Given the description of an element on the screen output the (x, y) to click on. 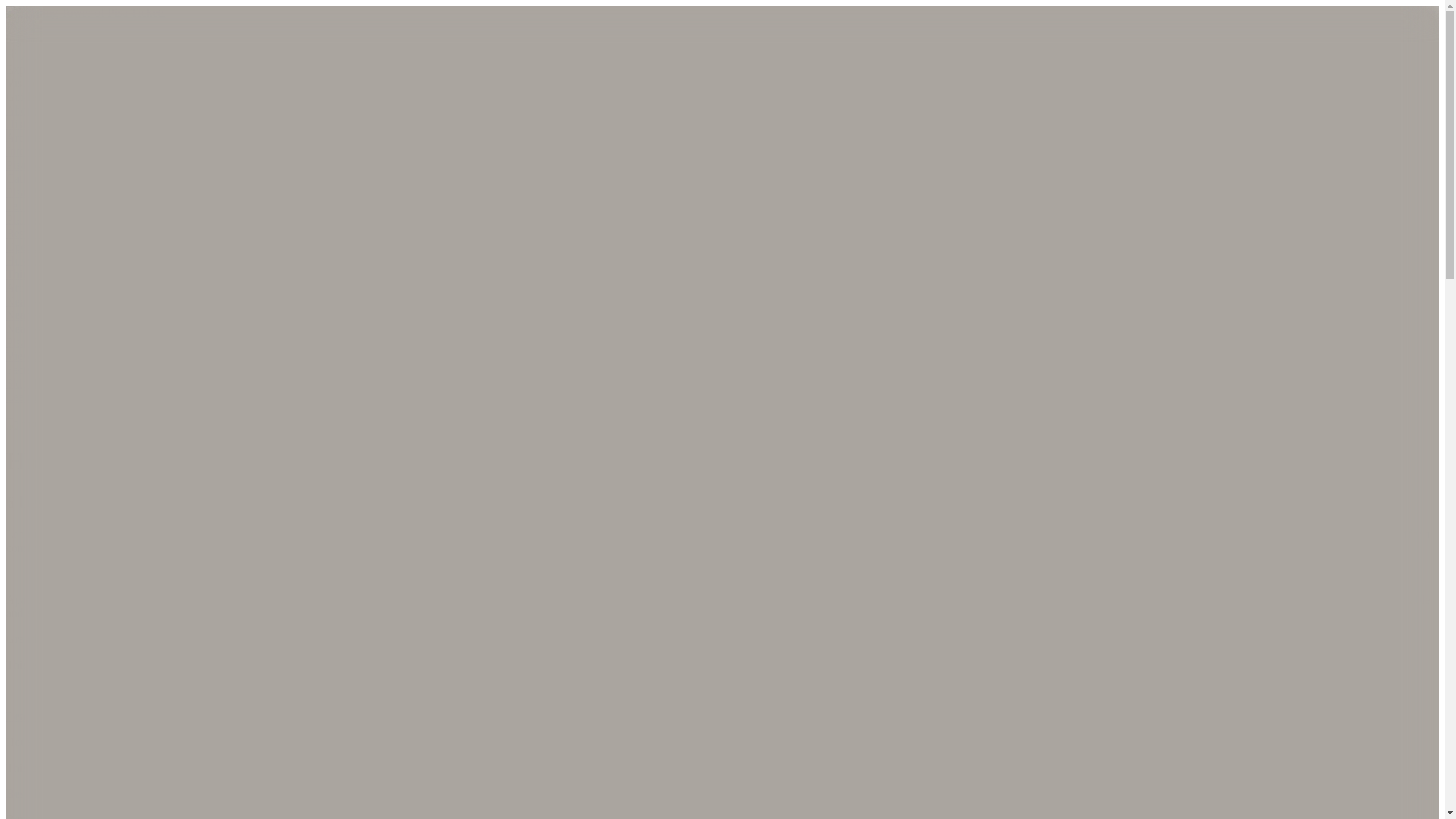
Architecture (35, 137)
Cathedral Santa Maria (60, 178)
View From Top (43, 355)
Skip The Line At Leaning Tower of Pisa (103, 382)
Facts (18, 369)
Leaning Tower Of Pisa Walking Tour (96, 396)
Nearby Hotels (41, 314)
Opening Hours (42, 246)
Pisa Baptistery (41, 192)
Best Time To Visit (51, 232)
Nearby Cafes (38, 328)
Leaning Tower of Pisa (1277, 599)
Things To Do (38, 273)
Pisa Stairs (30, 164)
Pisa Height (33, 341)
